Given the description of an element on the screen output the (x, y) to click on. 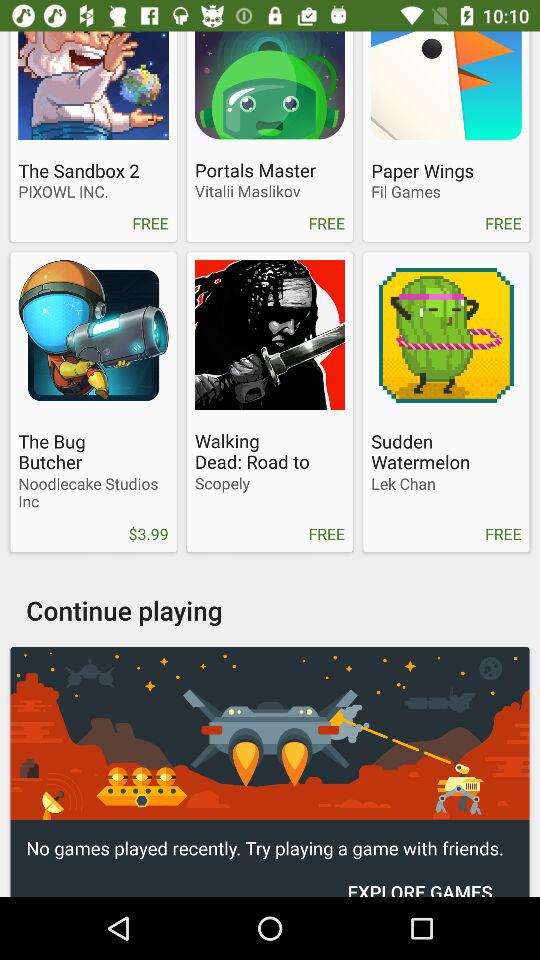
scroll until explore games (419, 878)
